Given the description of an element on the screen output the (x, y) to click on. 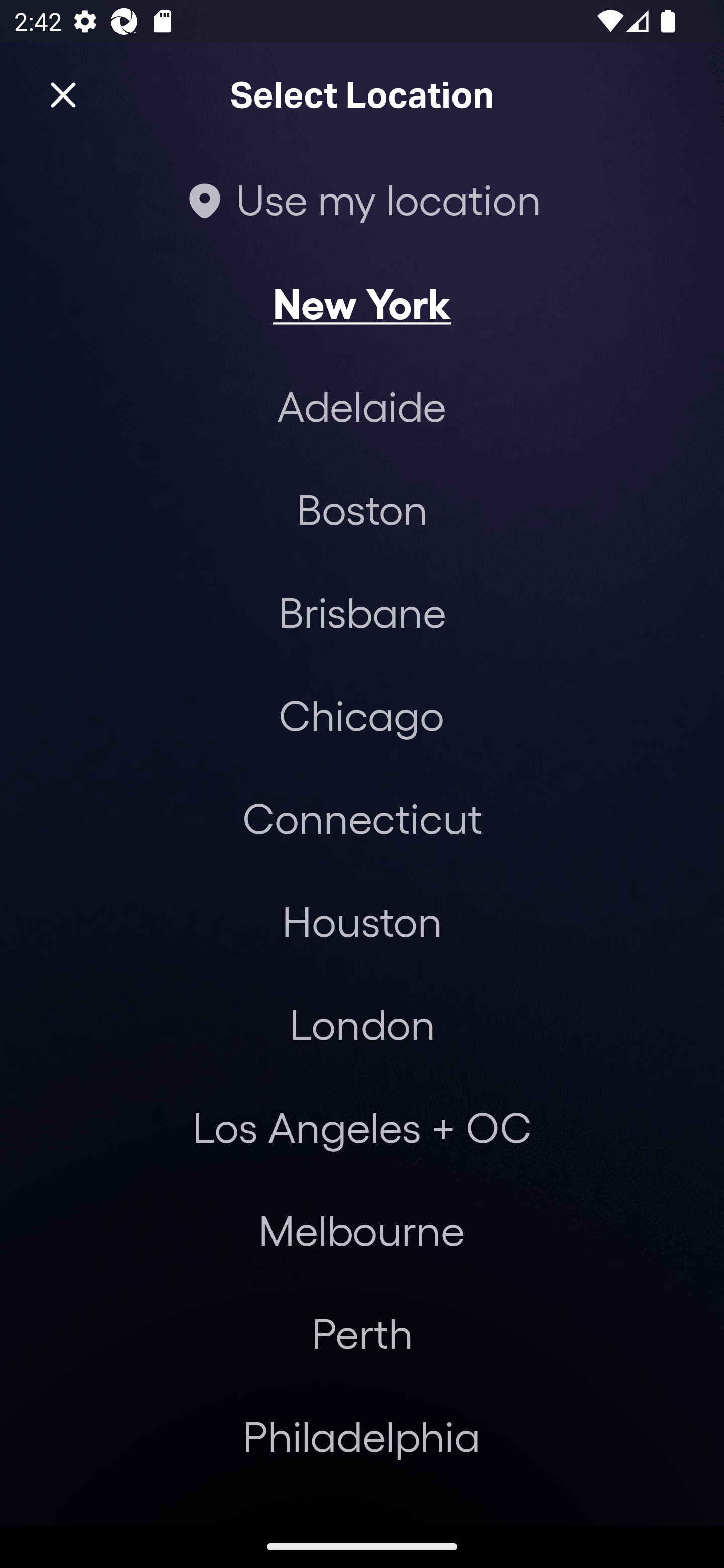
Close (62, 95)
   Use my location (362, 198)
New York (361, 302)
Adelaide (361, 405)
Boston (361, 508)
Brisbane (361, 611)
Chicago (361, 714)
Connecticut (361, 817)
Houston (361, 920)
London (361, 1023)
Los Angeles + OC (361, 1127)
Melbourne (361, 1230)
Perth (361, 1332)
Philadelphia (361, 1436)
